Given the description of an element on the screen output the (x, y) to click on. 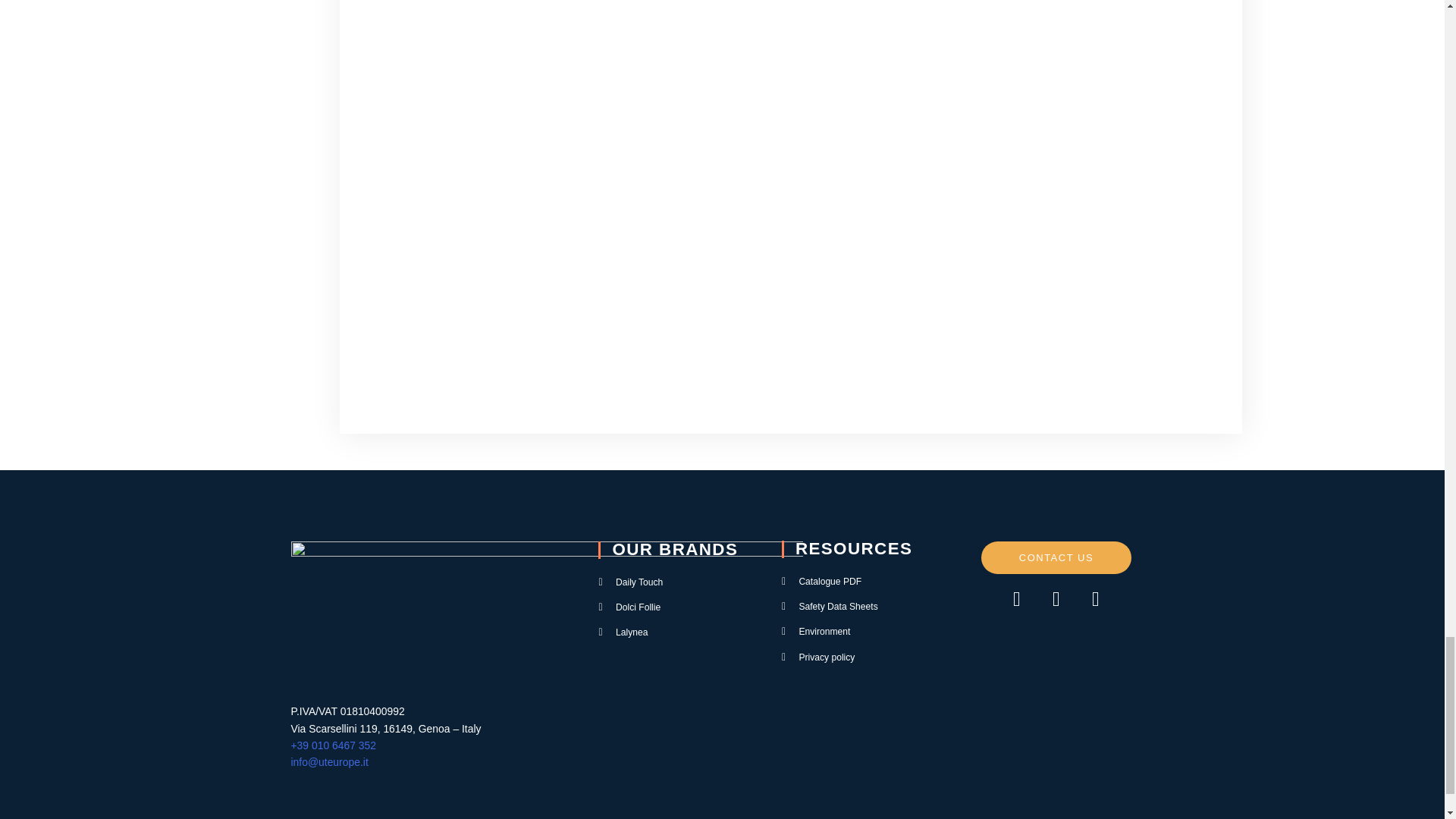
Lalynea (677, 632)
Dolci Follie (677, 606)
Safety Data Sheets (846, 606)
CONTACT US (1056, 557)
Privacy policy (846, 657)
Catalogue PDF (846, 581)
Daily Touch (677, 582)
OUR BRANDS (674, 548)
RESOURCES (853, 547)
Environment (846, 631)
